Given the description of an element on the screen output the (x, y) to click on. 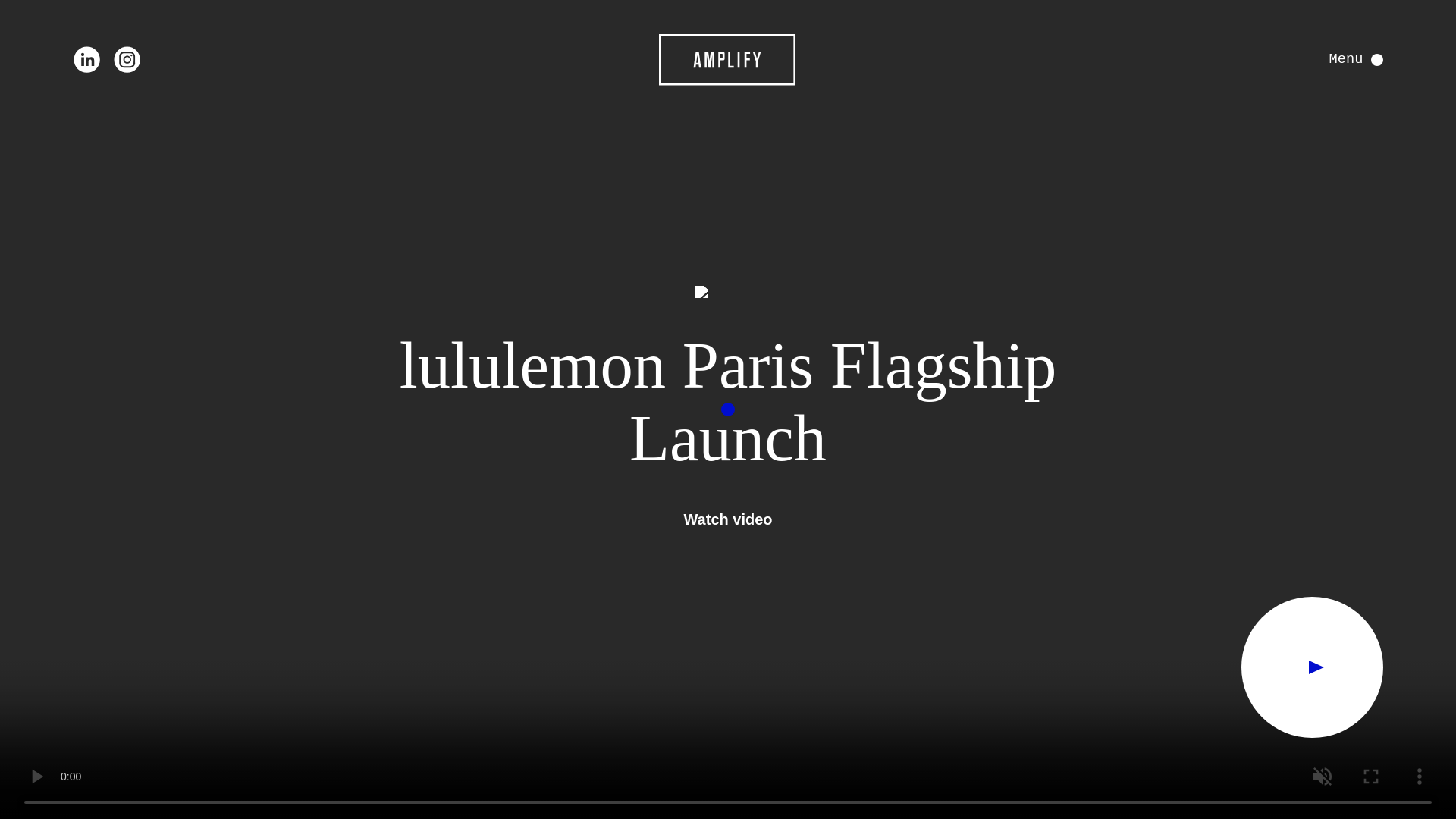
Watch video (726, 518)
Menu (1356, 59)
